Given the description of an element on the screen output the (x, y) to click on. 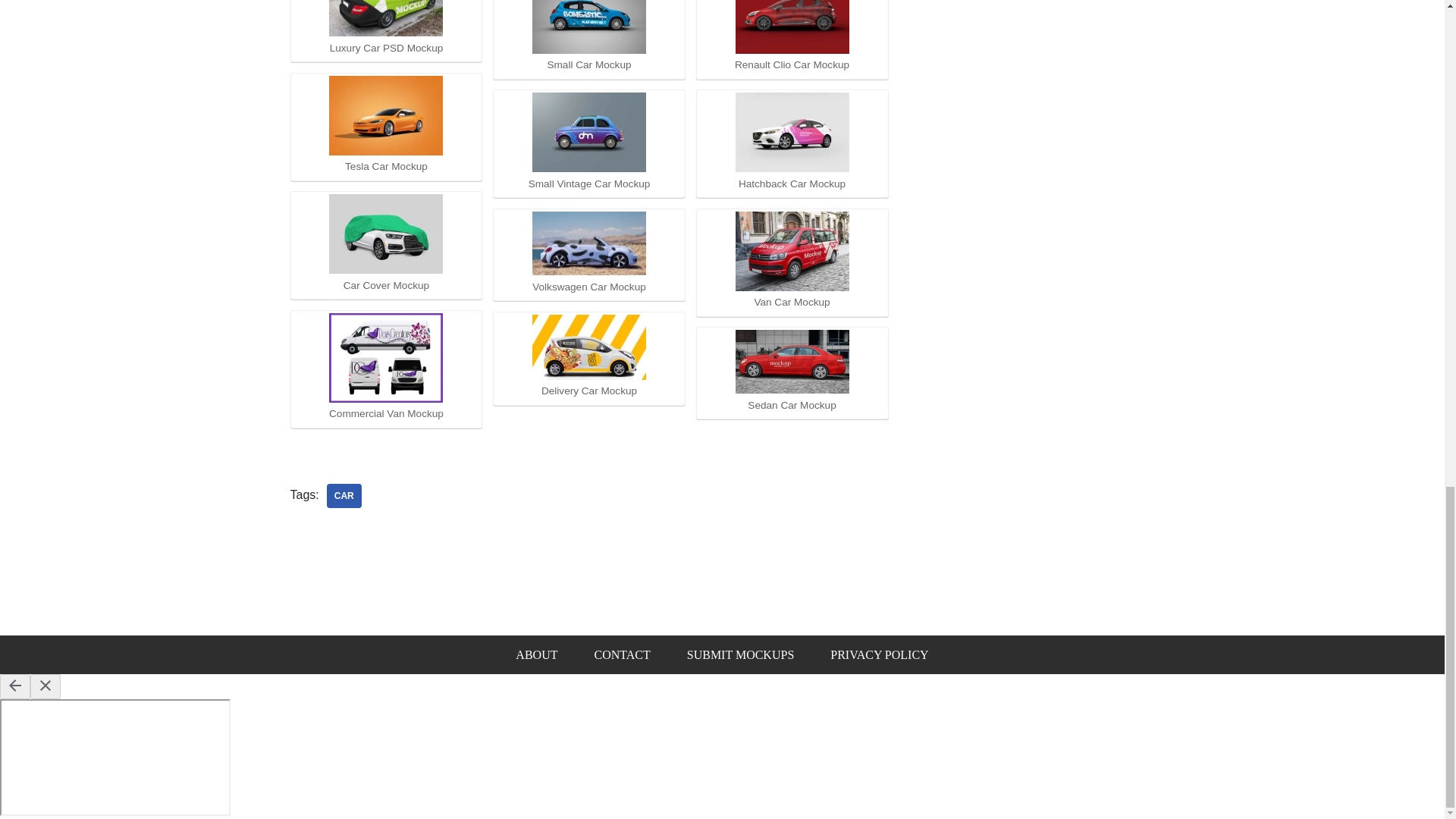
Car (343, 495)
Van Car Mockup (791, 251)
Renault Clio Car Mockup (791, 27)
Small Car Mockup (589, 27)
Luxury Car PSD Mockup (385, 18)
Hatchback Car Mockup (791, 131)
Volkswagen Car Mockup (589, 243)
Delivery Car Mockup (589, 347)
Sedan Car Mockup (791, 361)
Commercial Van Mockup (385, 357)
Car Cover Mockup (385, 233)
Tesla Car Mockup (385, 115)
Small Vintage Car Mockup (589, 131)
